Given the description of an element on the screen output the (x, y) to click on. 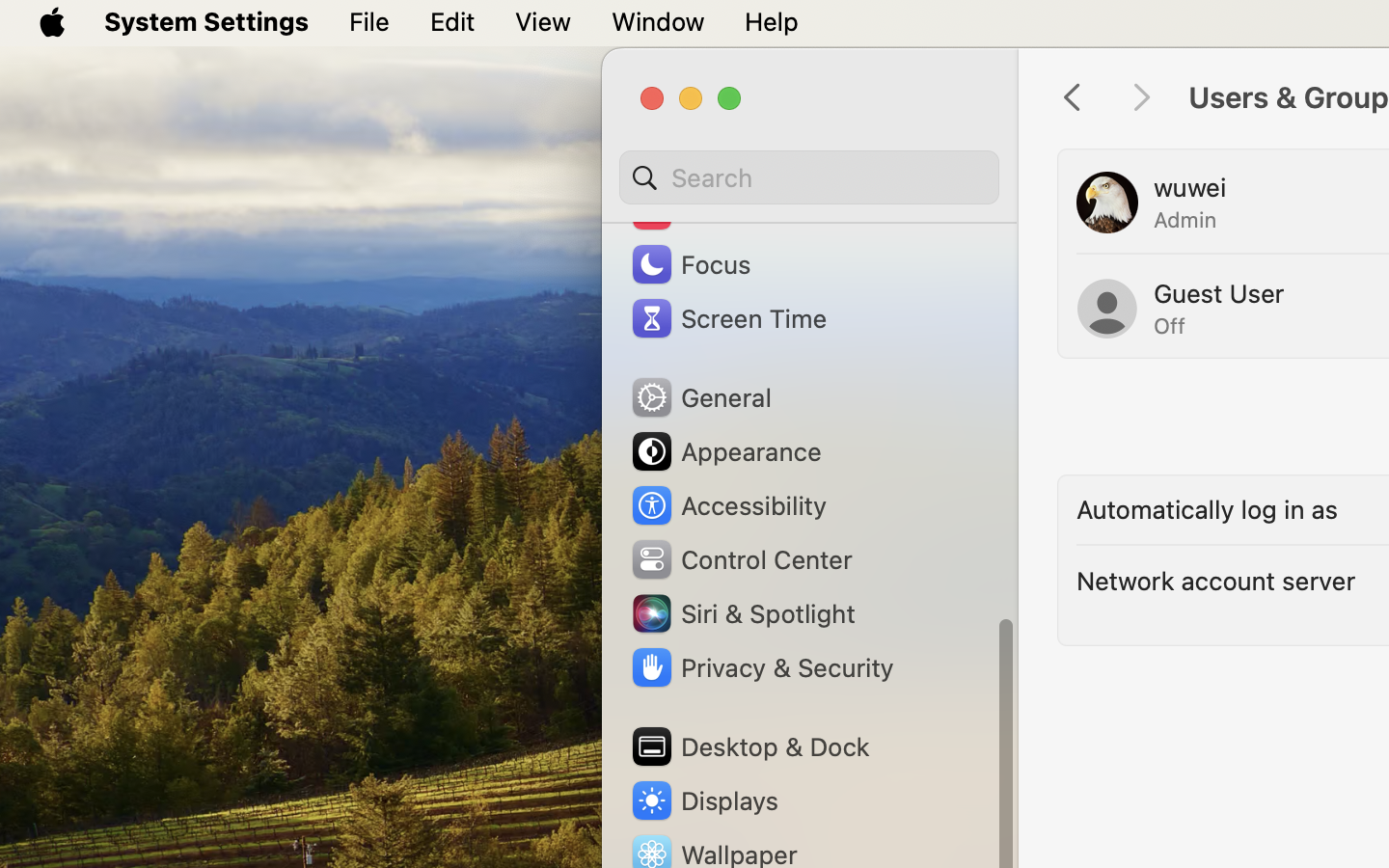
wuwei Element type: AXStaticText (1189, 186)
Control Center Element type: AXStaticText (740, 559)
